Given the description of an element on the screen output the (x, y) to click on. 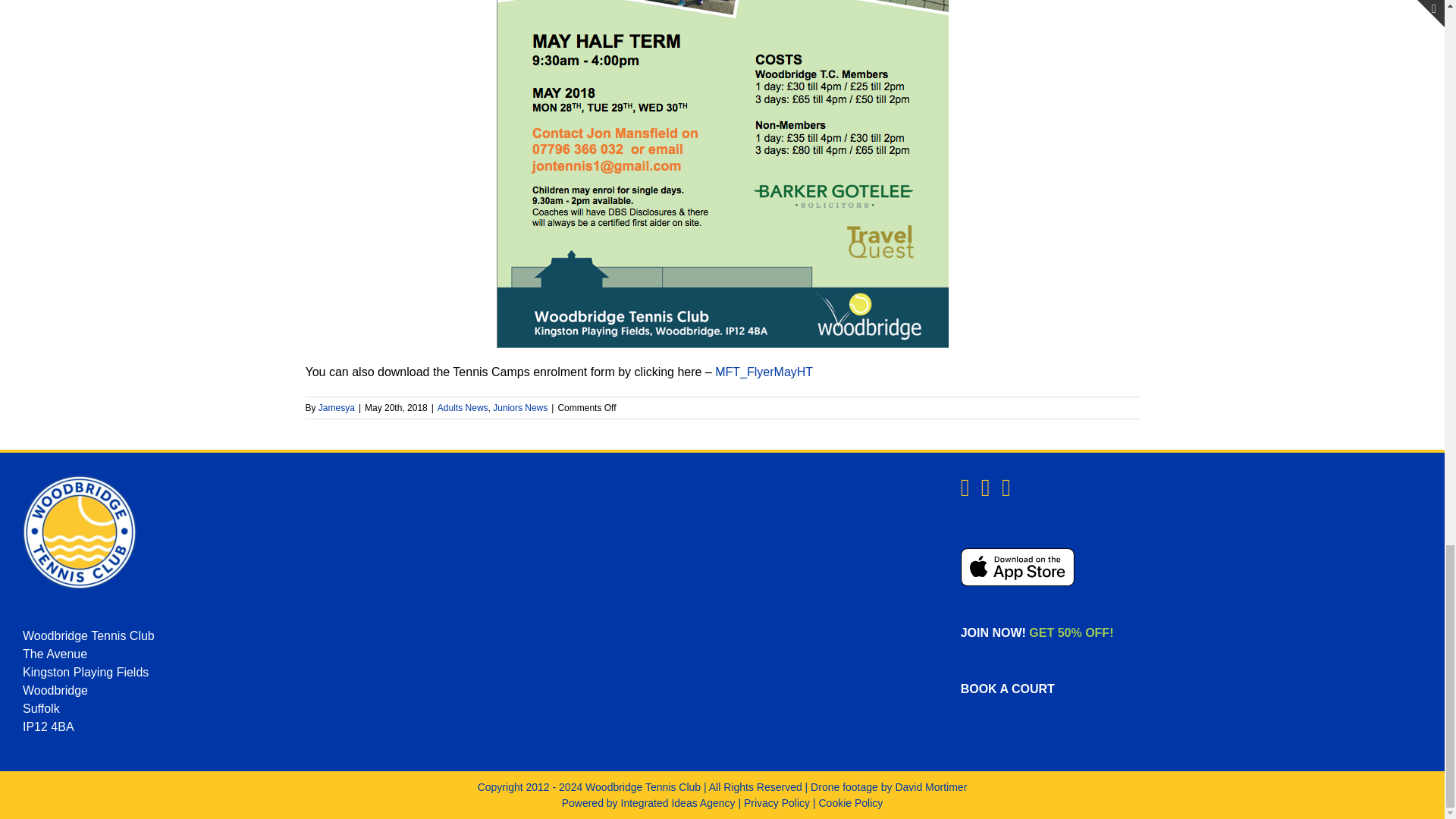
Posts by Jamesya (336, 407)
